Given the description of an element on the screen output the (x, y) to click on. 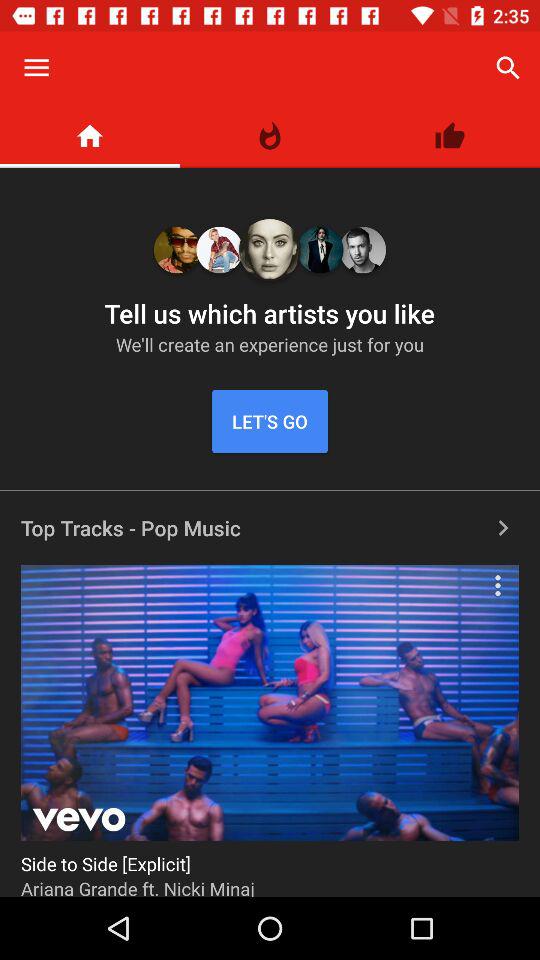
click item below the we ll create item (269, 421)
